Given the description of an element on the screen output the (x, y) to click on. 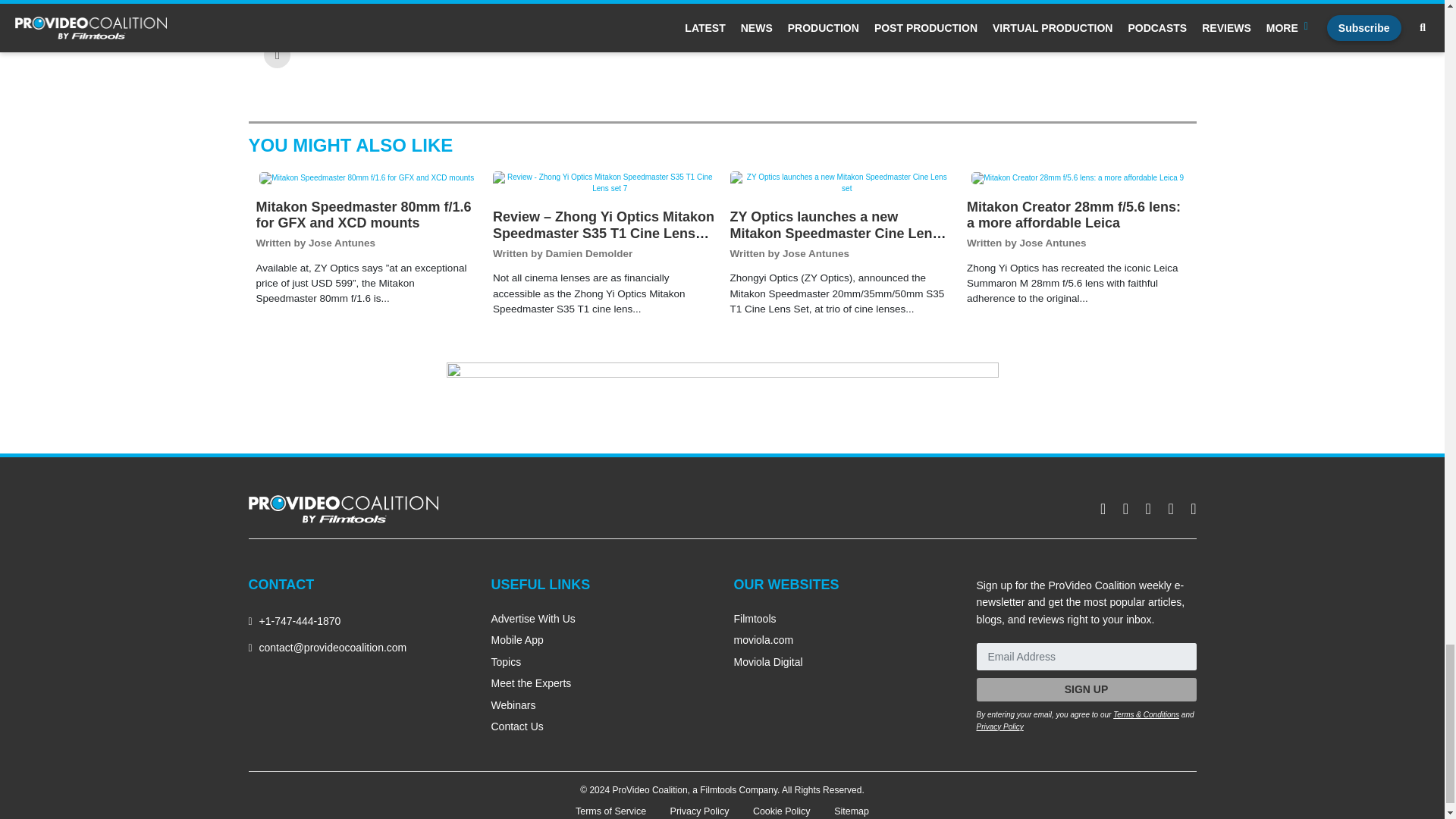
SIGN UP (1086, 689)
